Given the description of an element on the screen output the (x, y) to click on. 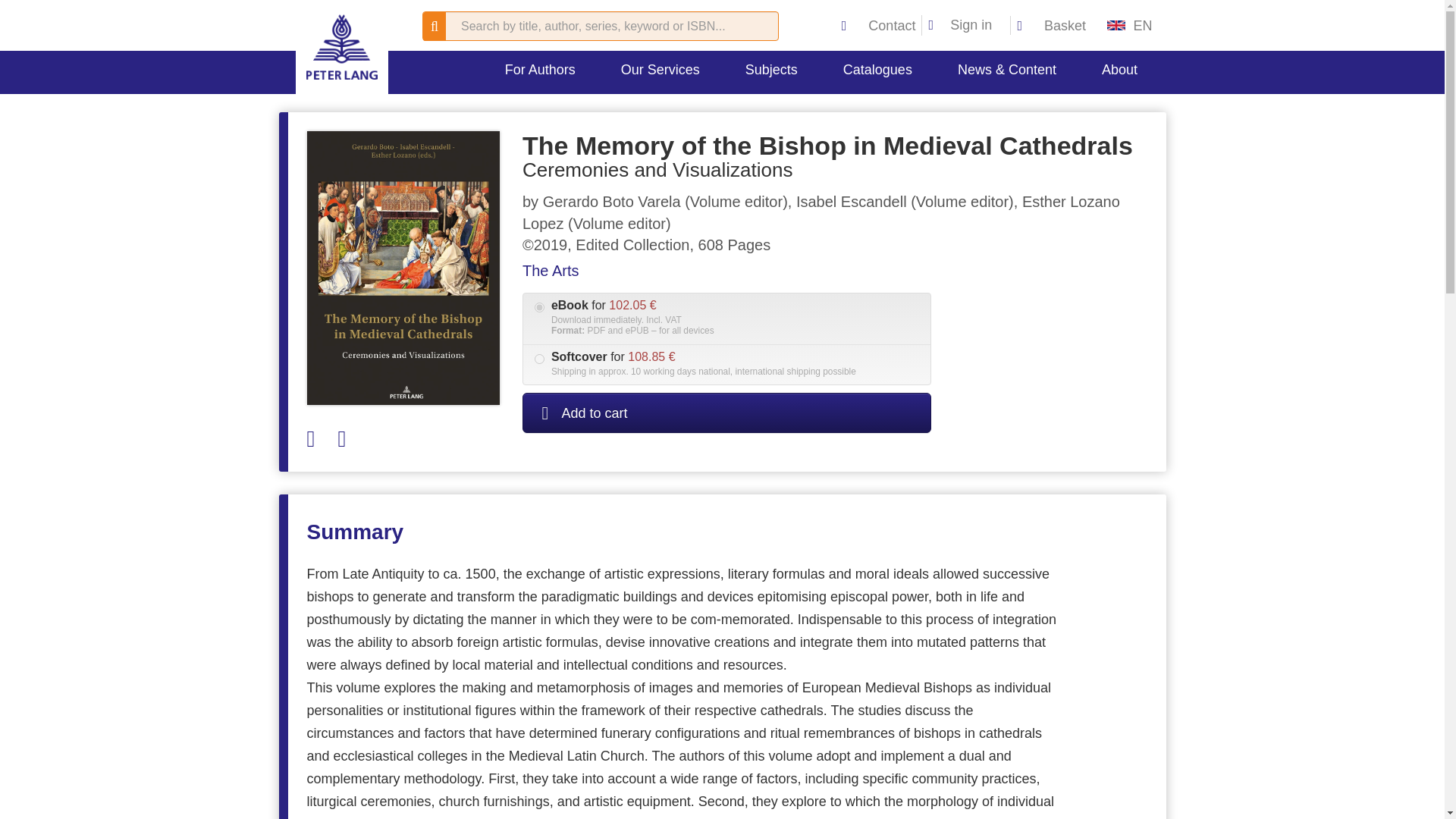
Subjects Overview (842, 103)
Basket (1051, 25)
peterlang (341, 47)
Services Overview (677, 103)
Catalogue Overview (921, 103)
Contact (879, 25)
ebook:1056966 (539, 307)
Order Exam Copies (831, 103)
Publish with us (617, 103)
Linguistics (1041, 103)
book:1056966 (539, 358)
